Given the description of an element on the screen output the (x, y) to click on. 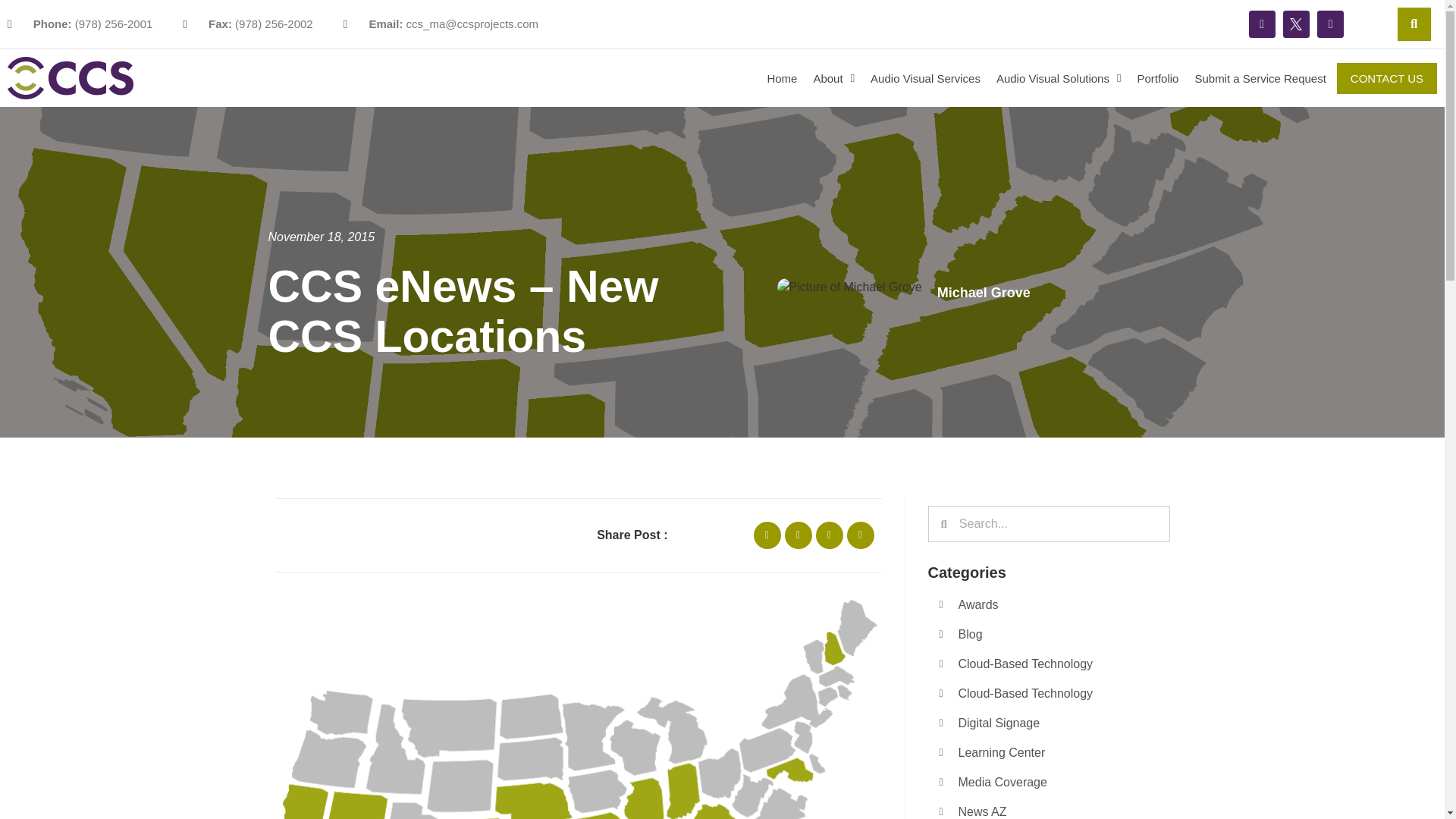
Submit a Service Request (1259, 77)
Audio Visual Services (924, 77)
Home (781, 77)
Portfolio (1157, 77)
Audio Visual Solutions (1058, 77)
CONTACT US (1386, 77)
About (834, 77)
